Given the description of an element on the screen output the (x, y) to click on. 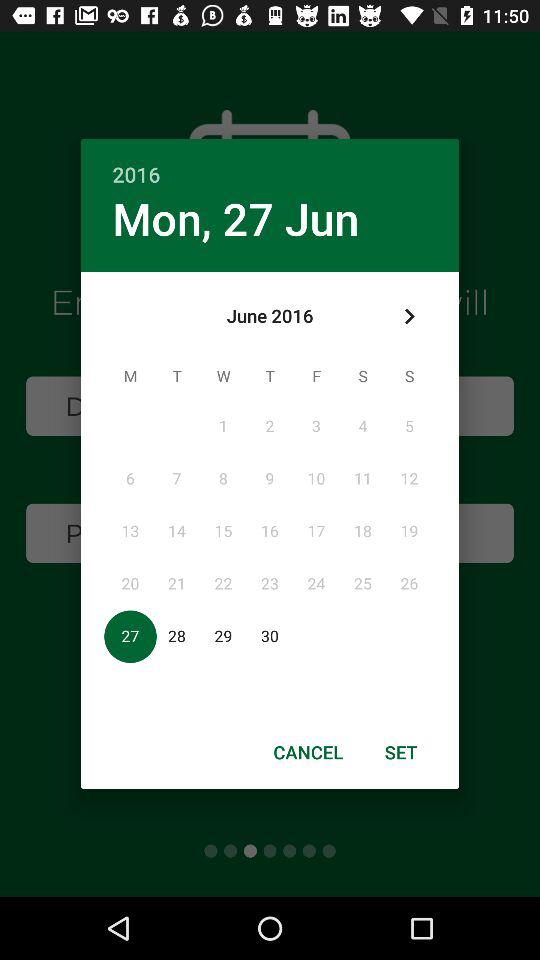
press mon, 27 jun item (235, 218)
